Given the description of an element on the screen output the (x, y) to click on. 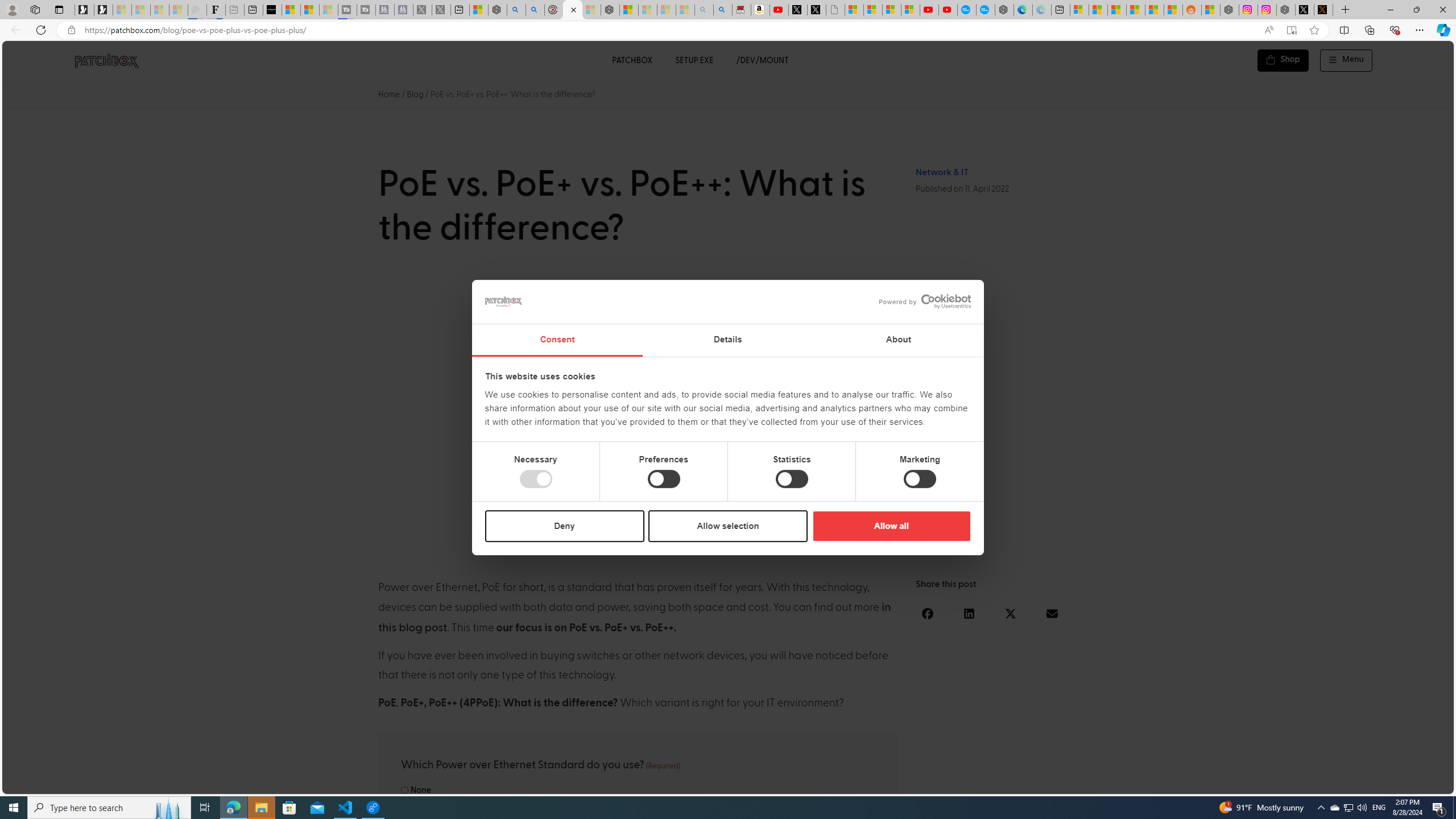
PATCHBOX - Simplify IT (106, 60)
